Given the description of an element on the screen output the (x, y) to click on. 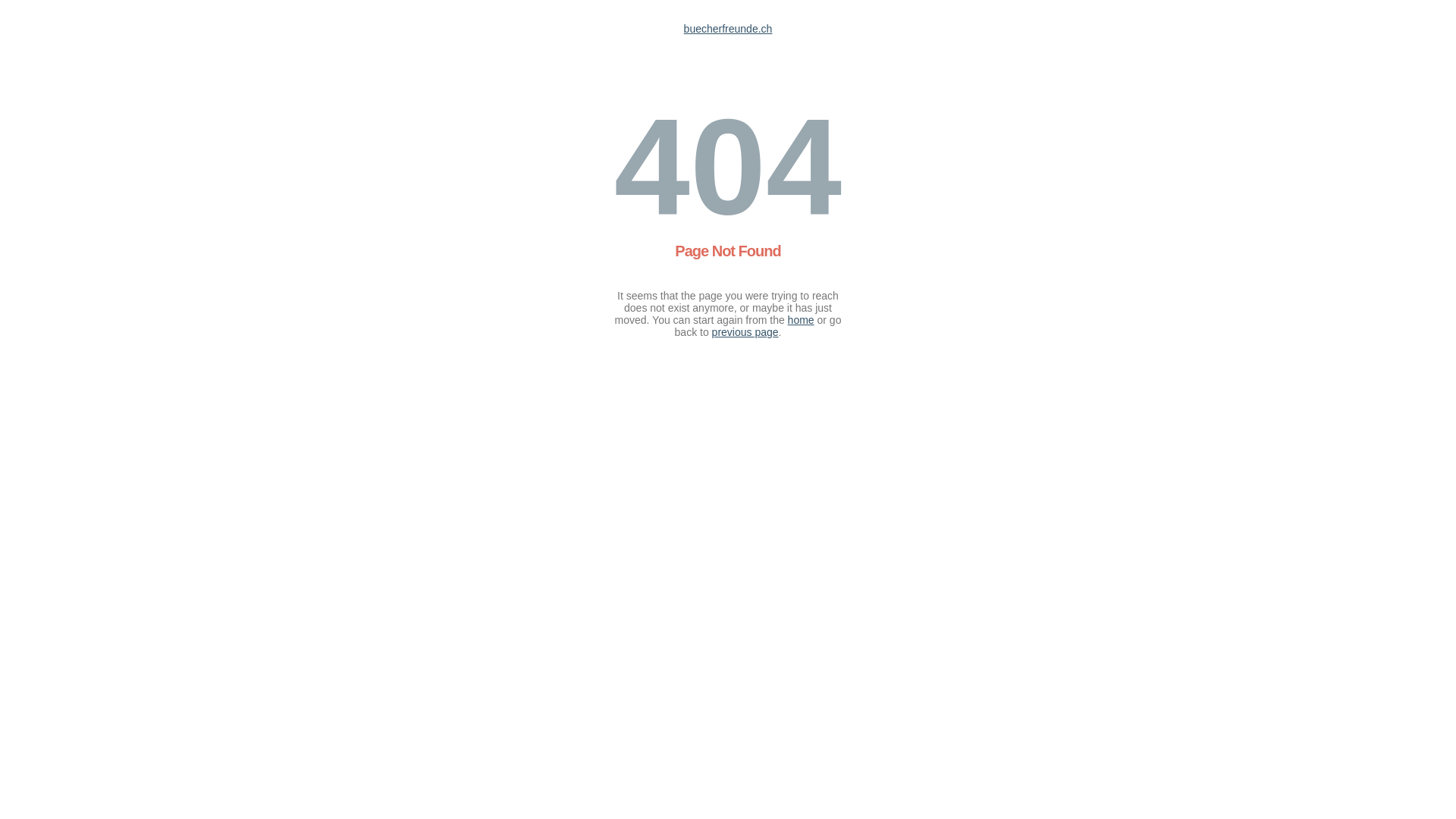
buecherfreunde.ch Element type: text (728, 28)
home Element type: text (800, 319)
previous page Element type: text (745, 332)
